Given the description of an element on the screen output the (x, y) to click on. 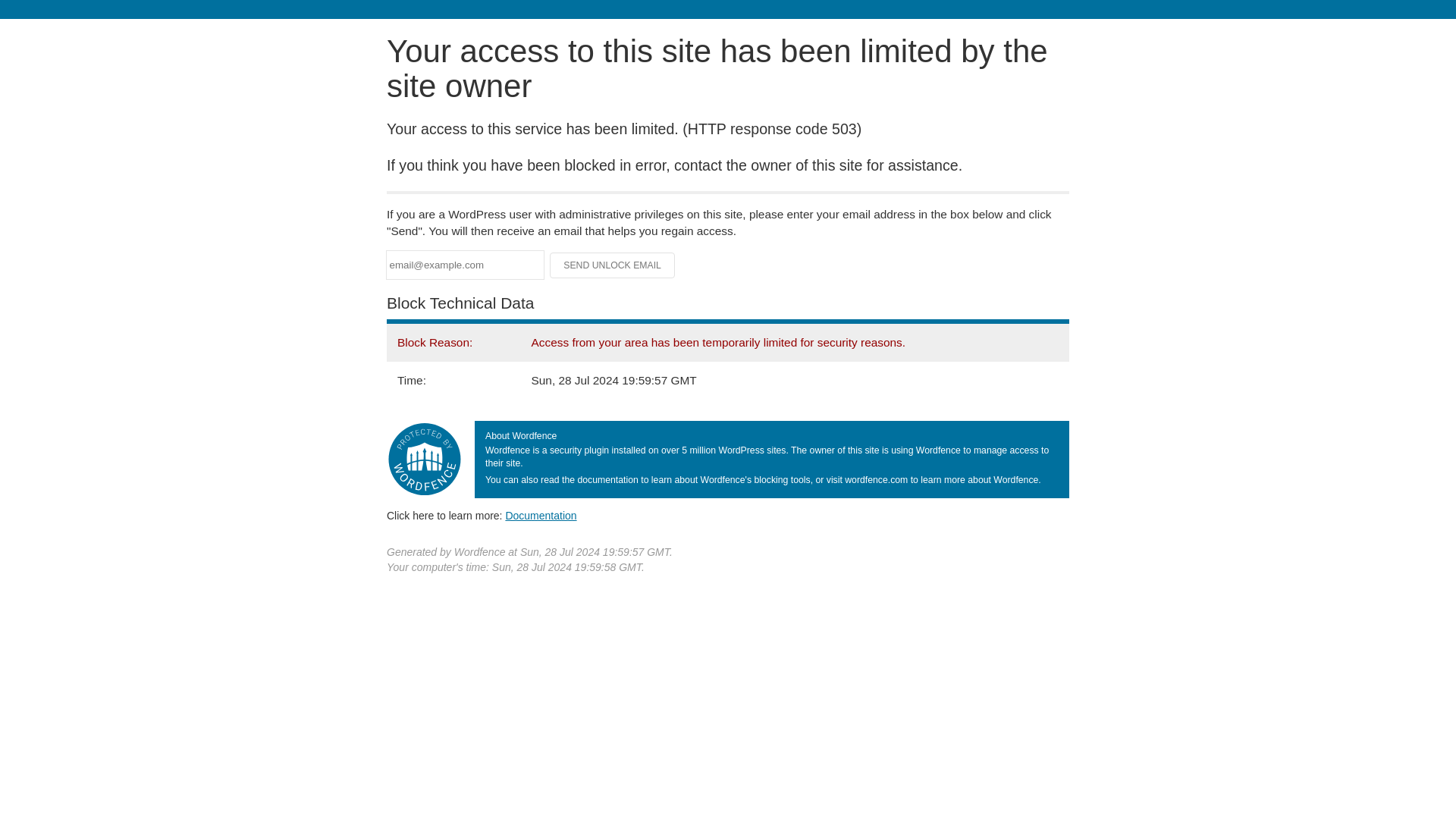
Send Unlock Email (612, 265)
Documentation (540, 515)
Send Unlock Email (612, 265)
